Given the description of an element on the screen output the (x, y) to click on. 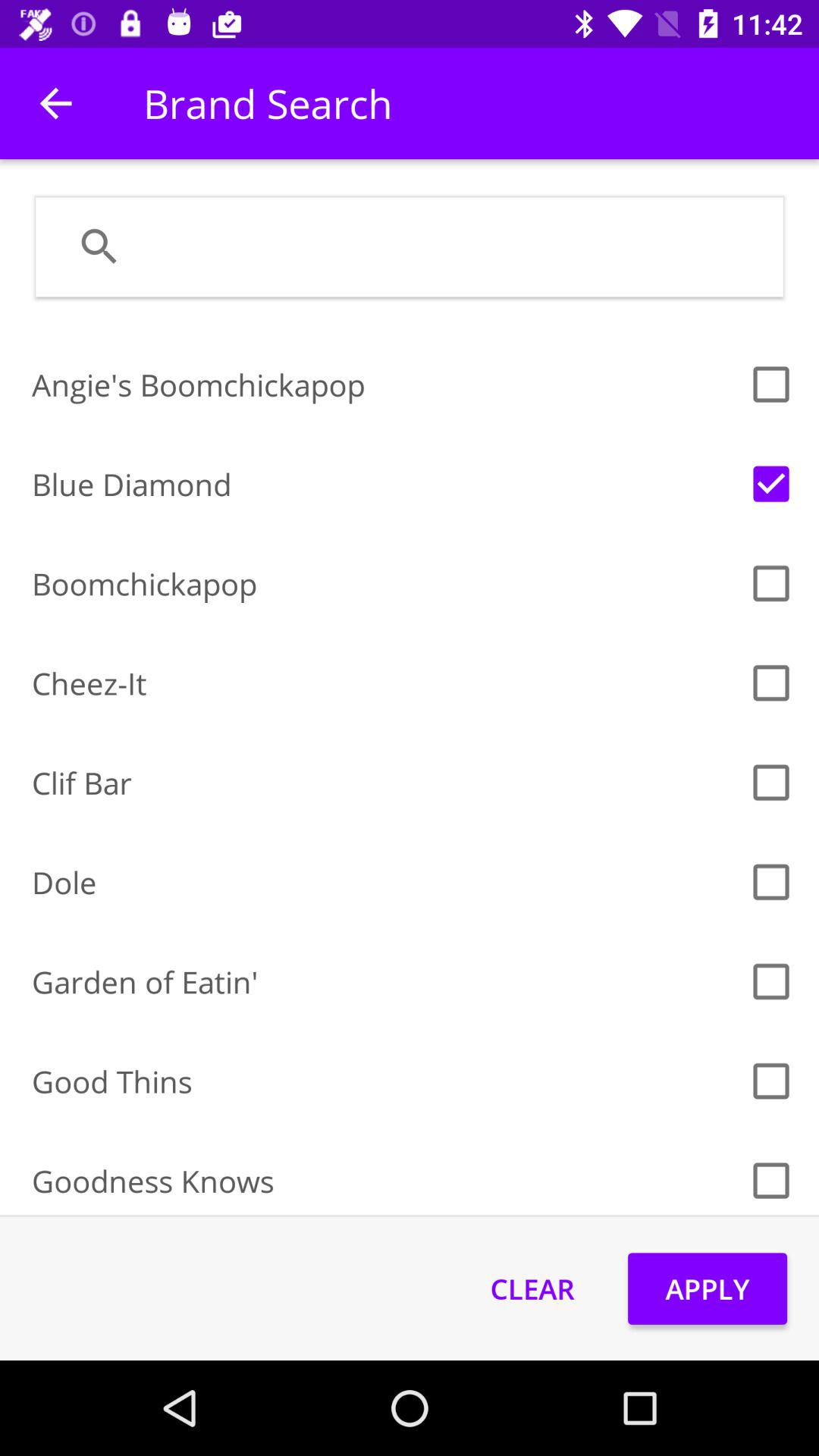
scroll to goodness knows item (385, 1180)
